Given the description of an element on the screen output the (x, y) to click on. 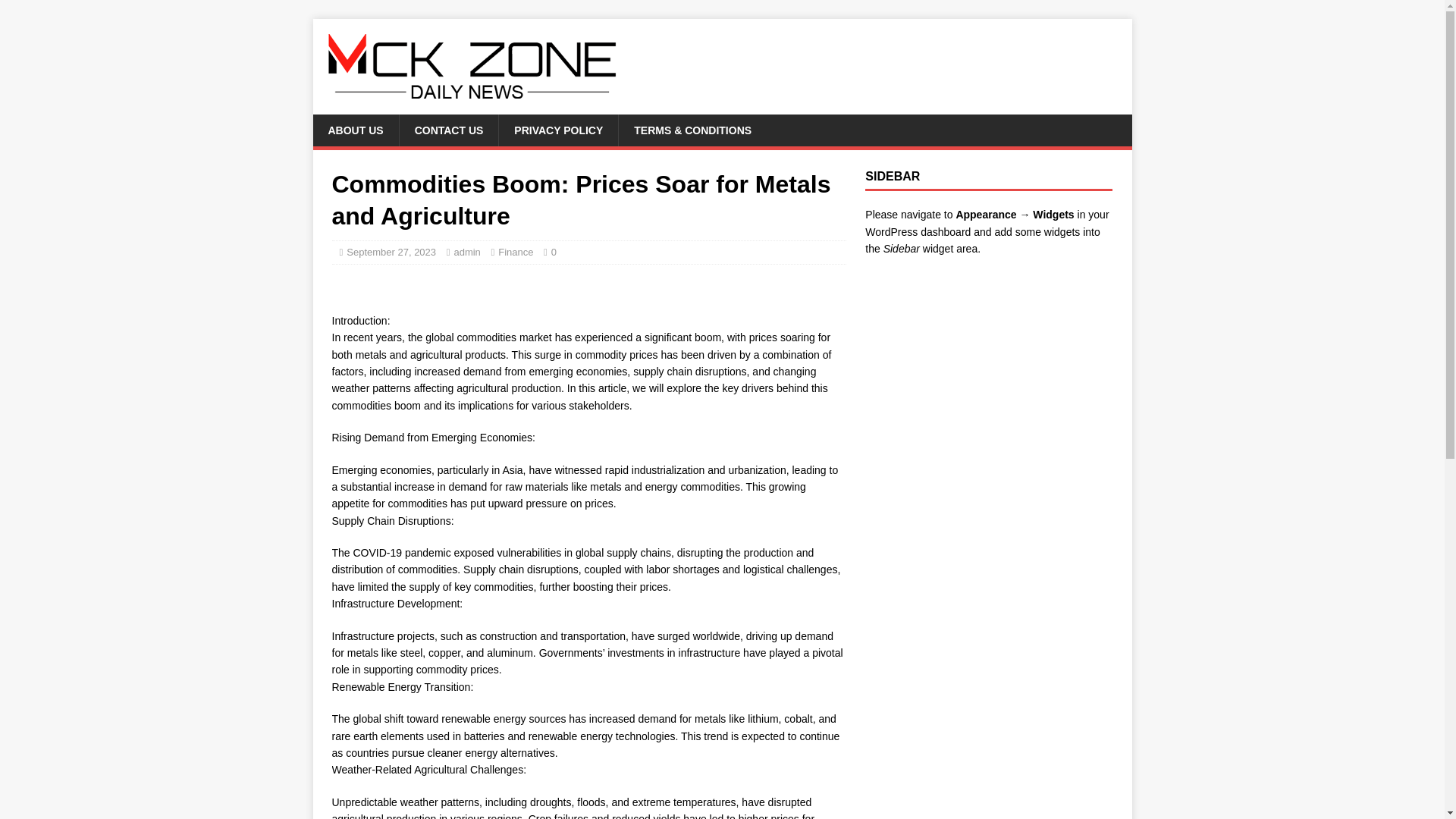
0 (553, 251)
CONTACT US (448, 130)
September 27, 2023 (390, 251)
PRIVACY POLICY (557, 130)
admin (466, 251)
0 (553, 251)
ABOUT US (355, 130)
Finance (514, 251)
